Given the description of an element on the screen output the (x, y) to click on. 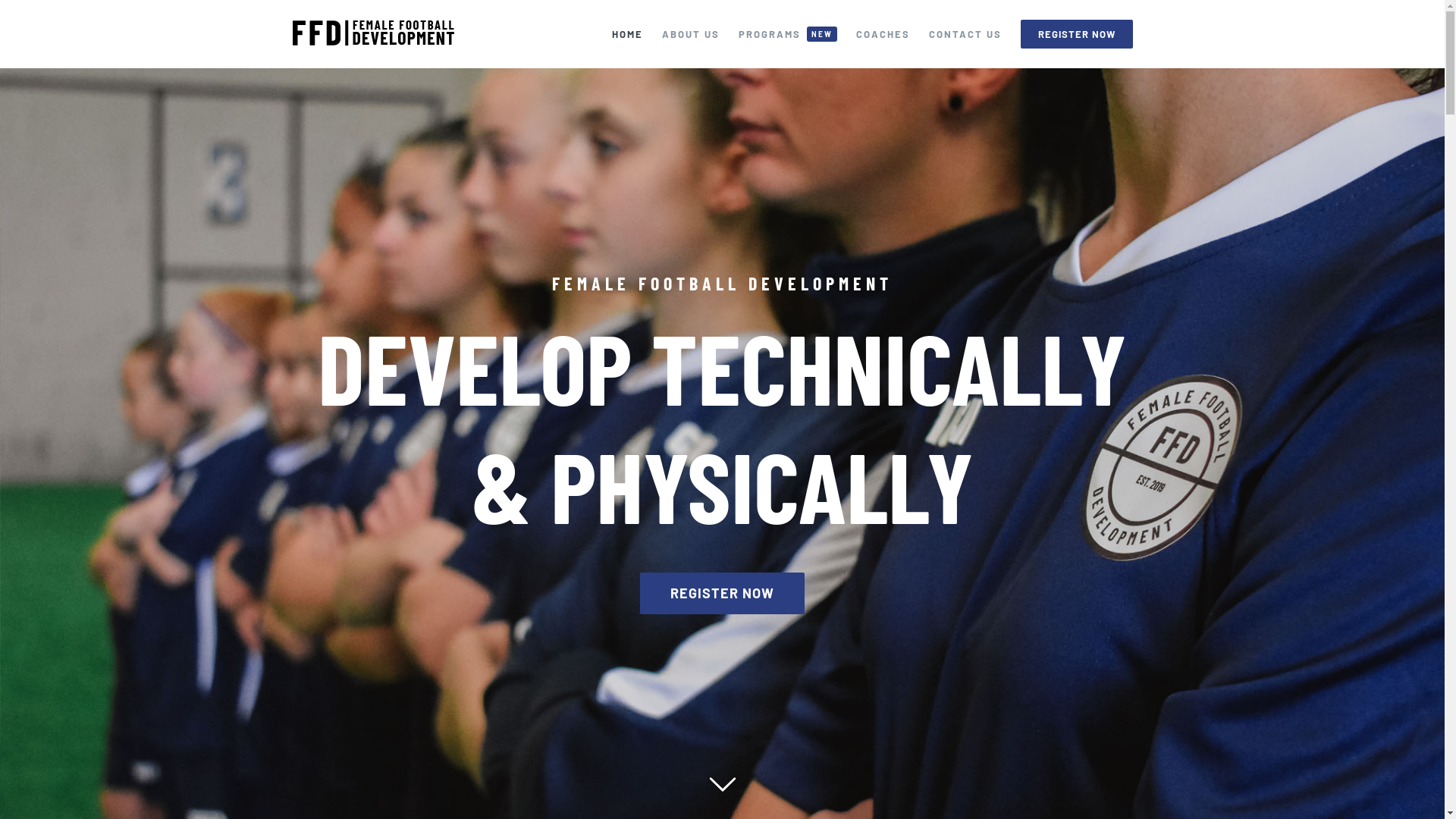
PROGRAMS
NEW Element type: text (787, 34)
HOME Element type: text (627, 34)
ABOUT US Element type: text (690, 34)
CONTACT US Element type: text (964, 34)
REGISTER NOW Element type: text (1076, 34)
REGISTER NOW Element type: text (722, 593)
COACHES Element type: text (883, 34)
